Given the description of an element on the screen output the (x, y) to click on. 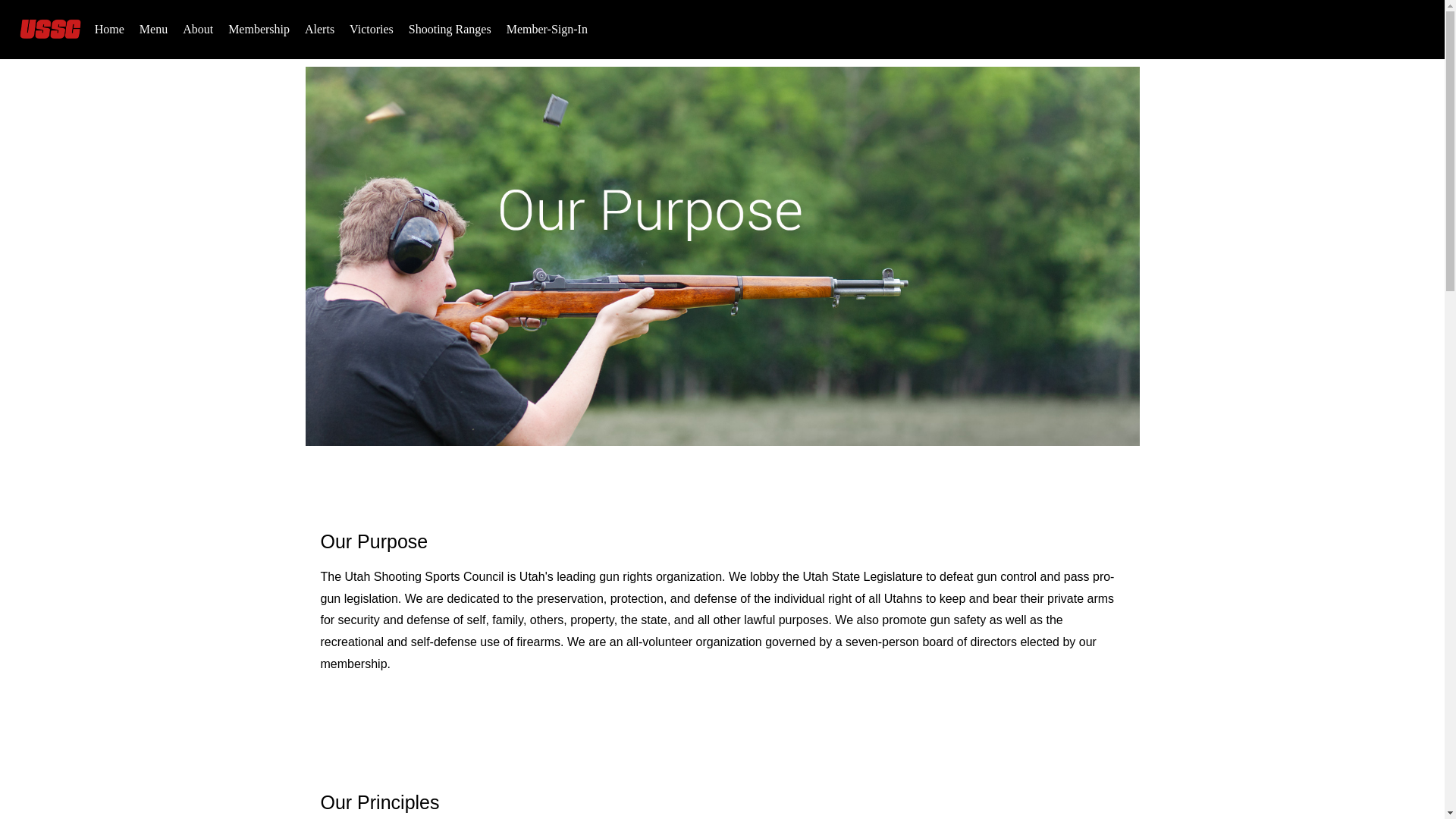
Menu (153, 29)
Victories (371, 29)
Membership (259, 29)
About (197, 29)
Home (109, 29)
Shooting Ranges (450, 29)
Member-Sign-In (547, 29)
Alerts (319, 29)
